Given the description of an element on the screen output the (x, y) to click on. 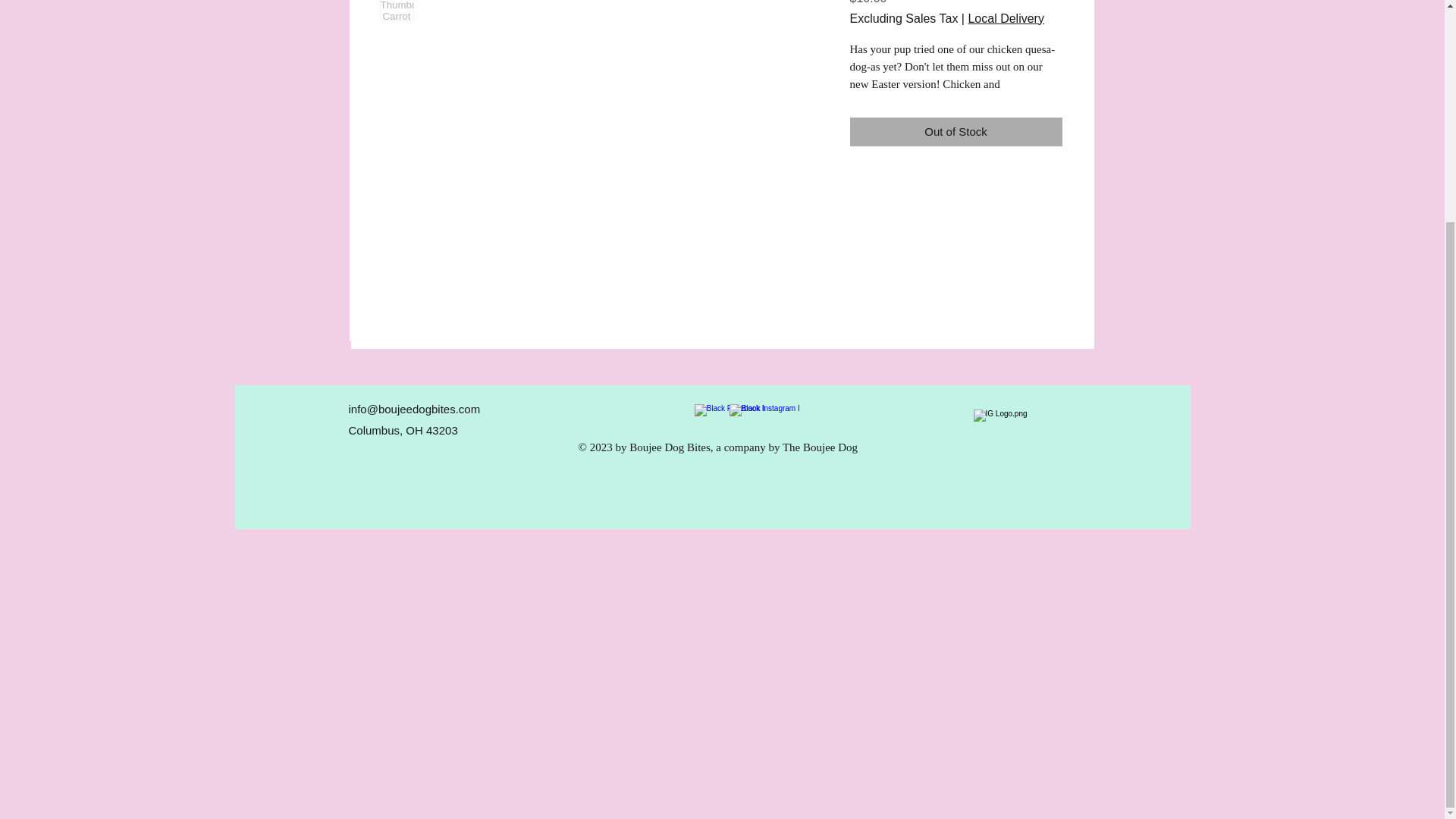
Local Delivery (1005, 18)
Out of Stock (954, 132)
